Given the description of an element on the screen output the (x, y) to click on. 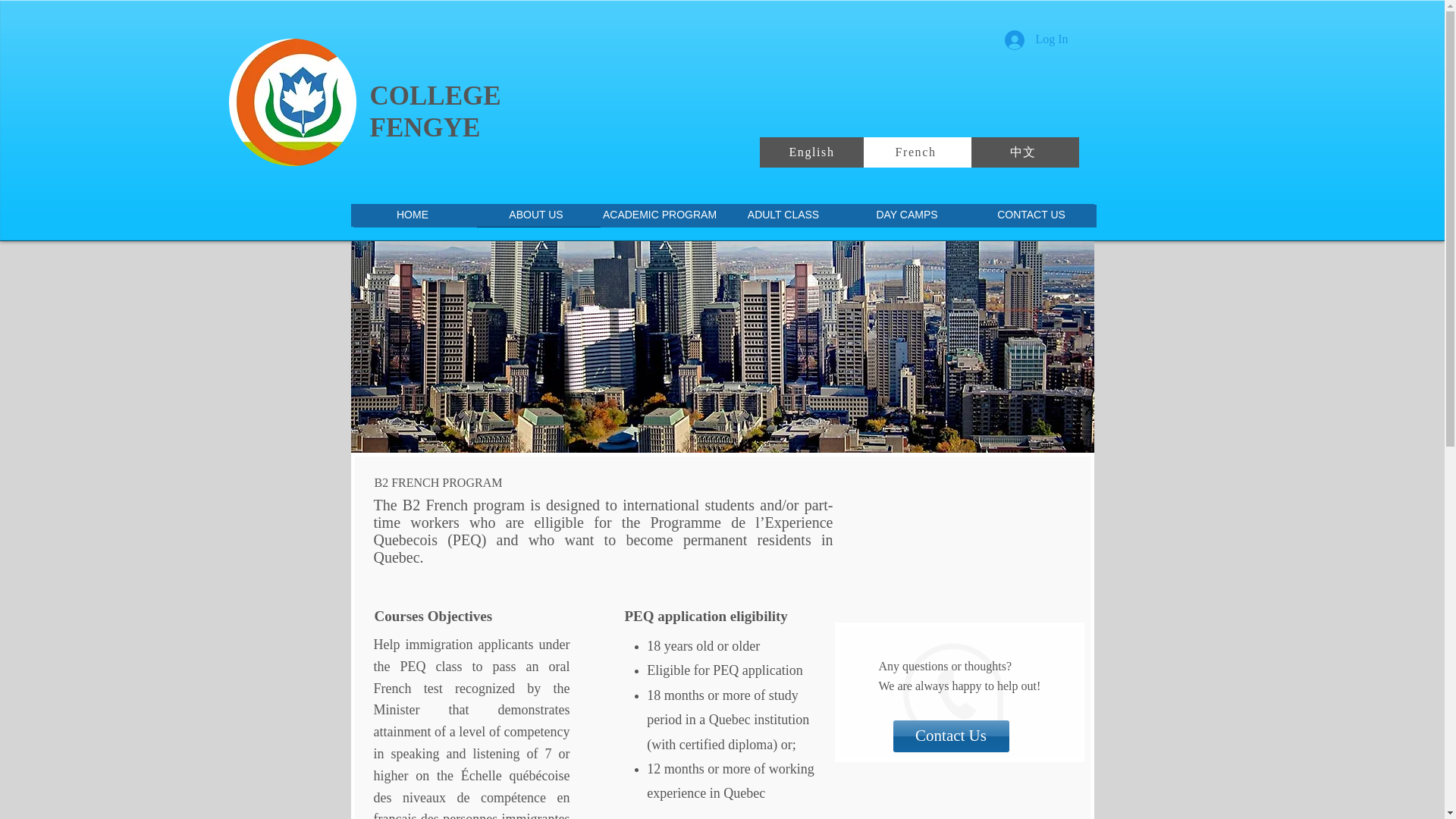
ACADEMIC PROGRAM (658, 214)
ADULT CLASS (785, 215)
DAY CAMPS (909, 215)
Contact Us (951, 736)
ACADEMIC PROGRAM (661, 215)
ABOUT US (537, 215)
HOME (412, 214)
ADULT CLASS (783, 214)
CONTACT US (1033, 215)
English (813, 152)
ABOUT US (536, 214)
COLLEGE FENGYE (434, 111)
French (917, 152)
HOME (415, 215)
